Given the description of an element on the screen output the (x, y) to click on. 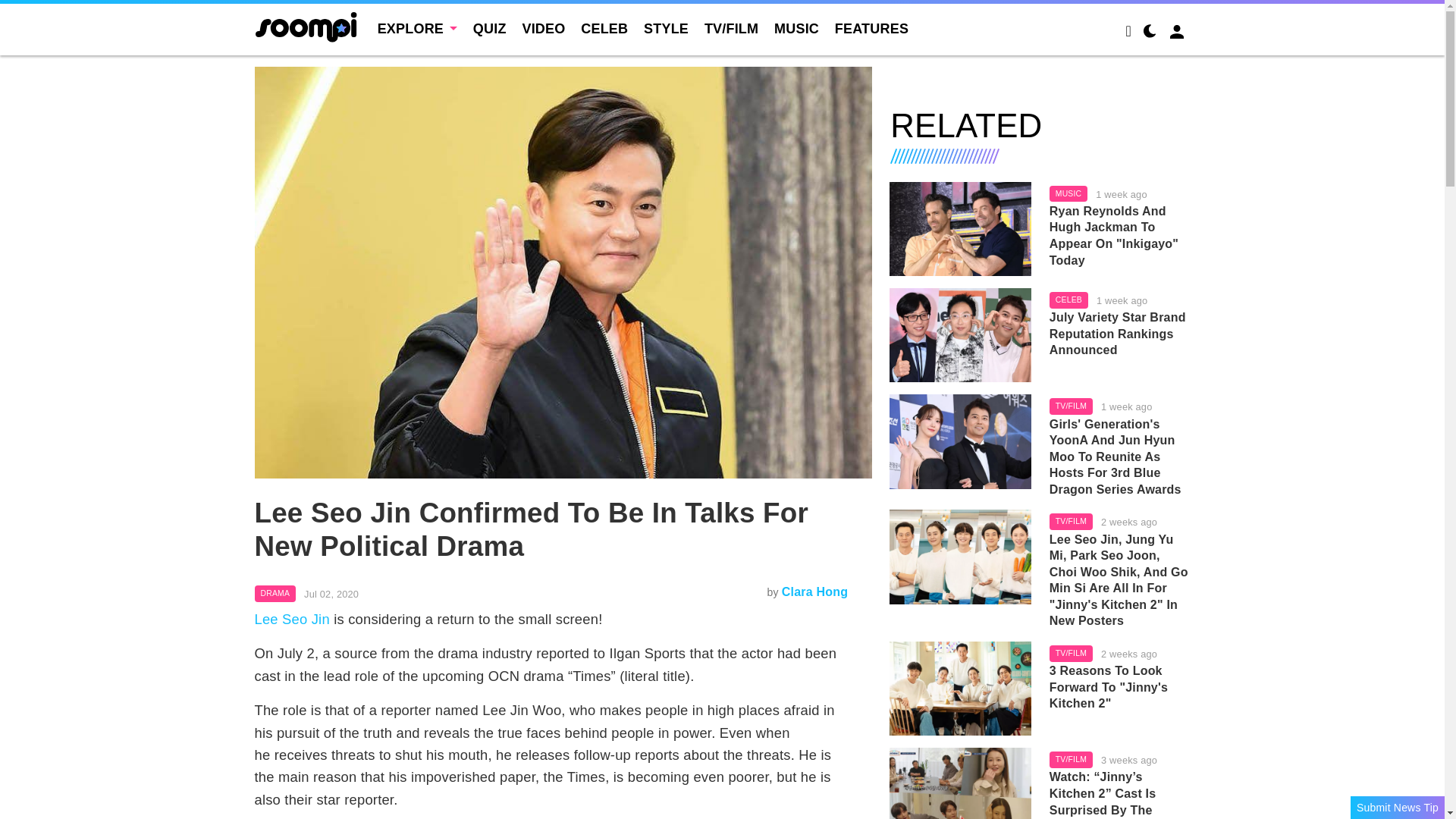
Drama (275, 593)
CELEB (603, 28)
Celeb (1068, 299)
July Variety Star Brand Reputation Rankings Announced (959, 335)
MUSIC (796, 28)
DRAMA (275, 593)
Ryan Reynolds And Hugh Jackman To Appear On 'Inkigayo' Today (959, 228)
STYLE (665, 28)
QUIZ (489, 28)
VIDEO (542, 28)
Night Mode Toggle (1149, 33)
Articles by Clara Hong (814, 591)
Music (1068, 193)
EXPLORE (417, 28)
Clara Hong (814, 591)
